Given the description of an element on the screen output the (x, y) to click on. 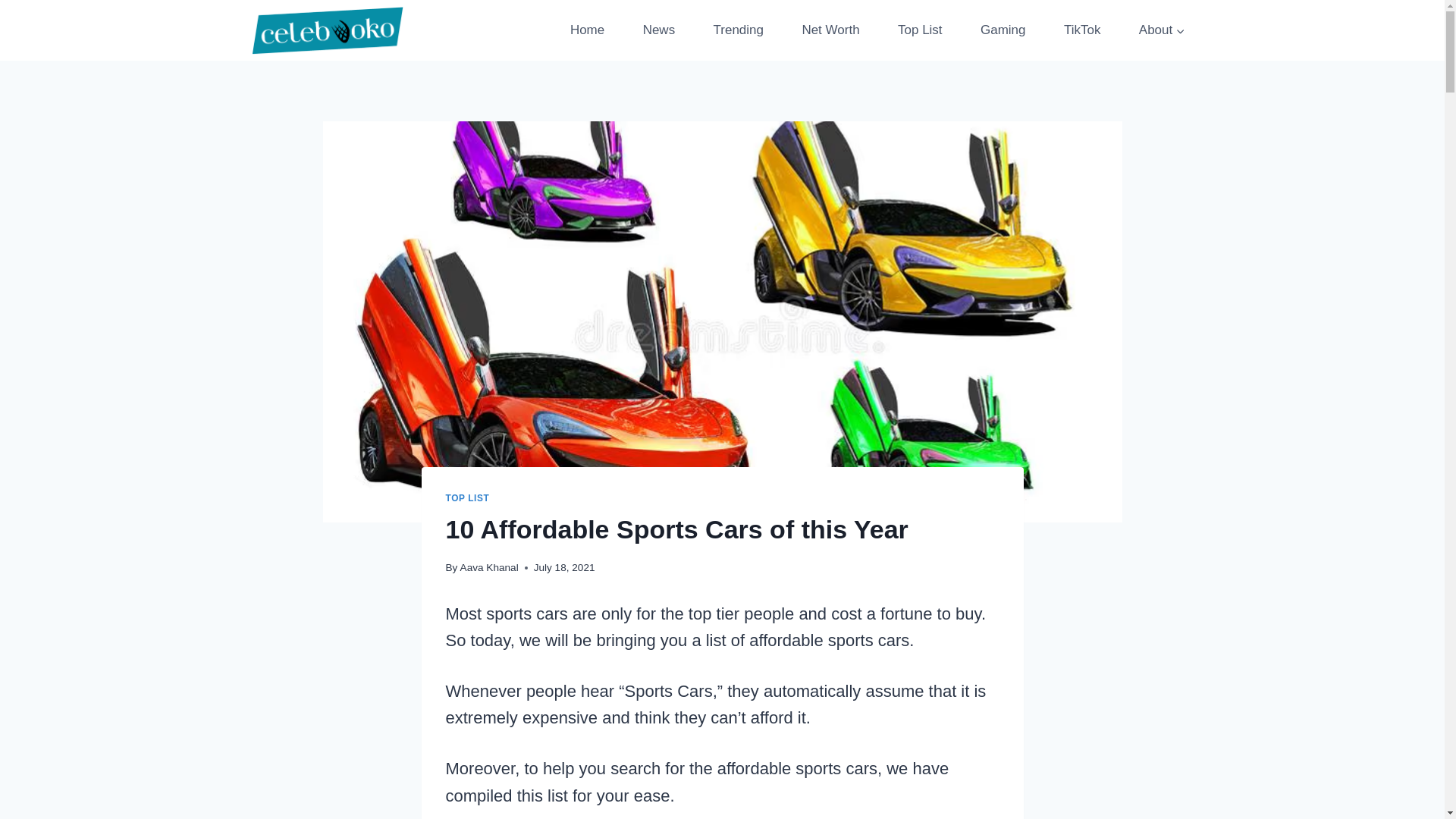
About (1162, 30)
Net Worth (830, 30)
Home (587, 30)
TOP LIST (467, 498)
TikTok (1082, 30)
Top List (919, 30)
Gaming (1002, 30)
News (658, 30)
Aava Khanal (489, 567)
